Given the description of an element on the screen output the (x, y) to click on. 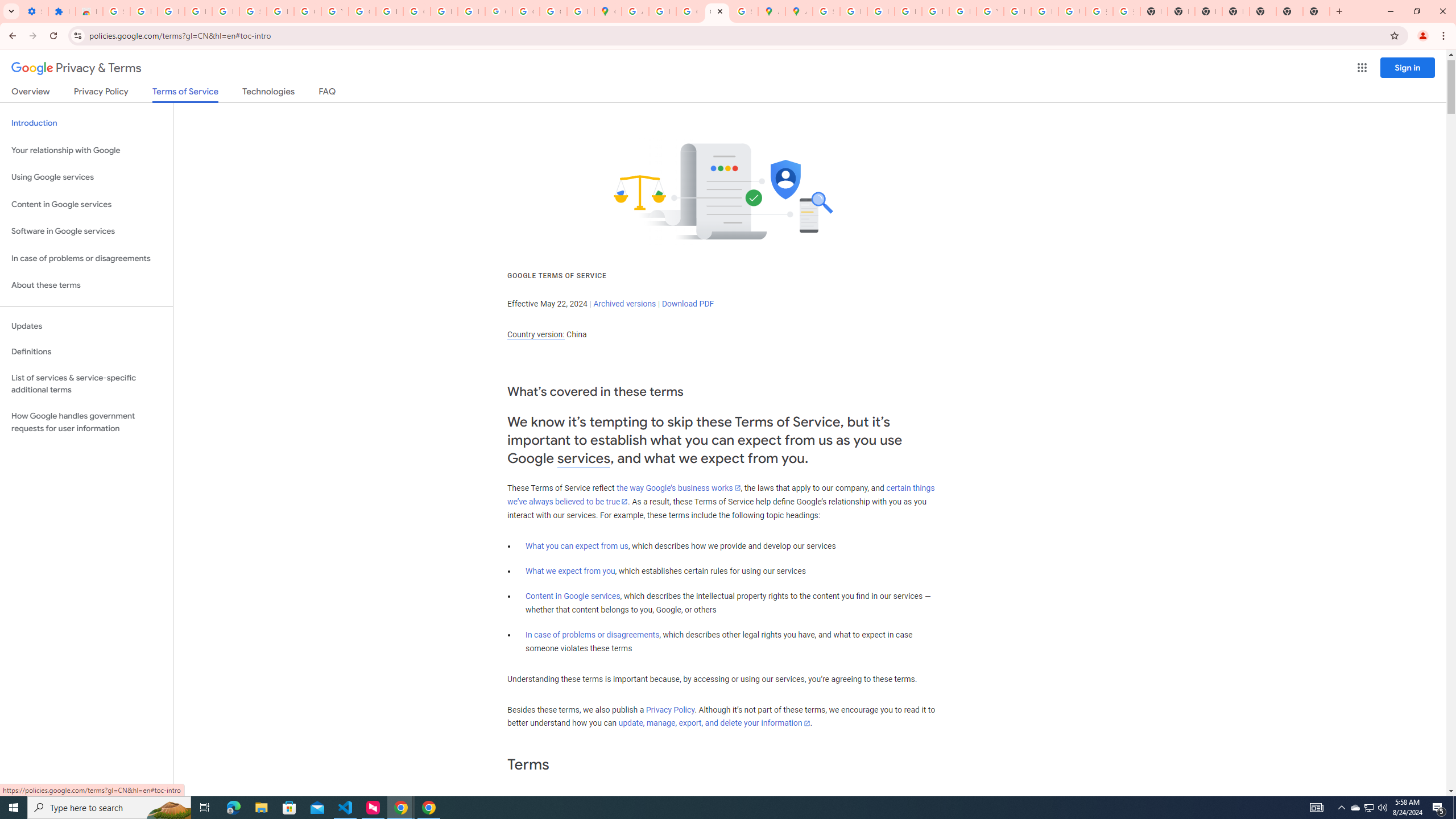
Using Google services (86, 176)
Sign in (1407, 67)
Sign in - Google Accounts (253, 11)
Privacy & Terms (76, 68)
What you can expect from us (576, 545)
Terms of Service (184, 94)
Google Maps (607, 11)
Delete photos & videos - Computer - Google Photos Help (170, 11)
Chrome (1445, 35)
Minimize (1390, 11)
Software in Google services (86, 230)
Create your Google Account (690, 11)
